Given the description of an element on the screen output the (x, y) to click on. 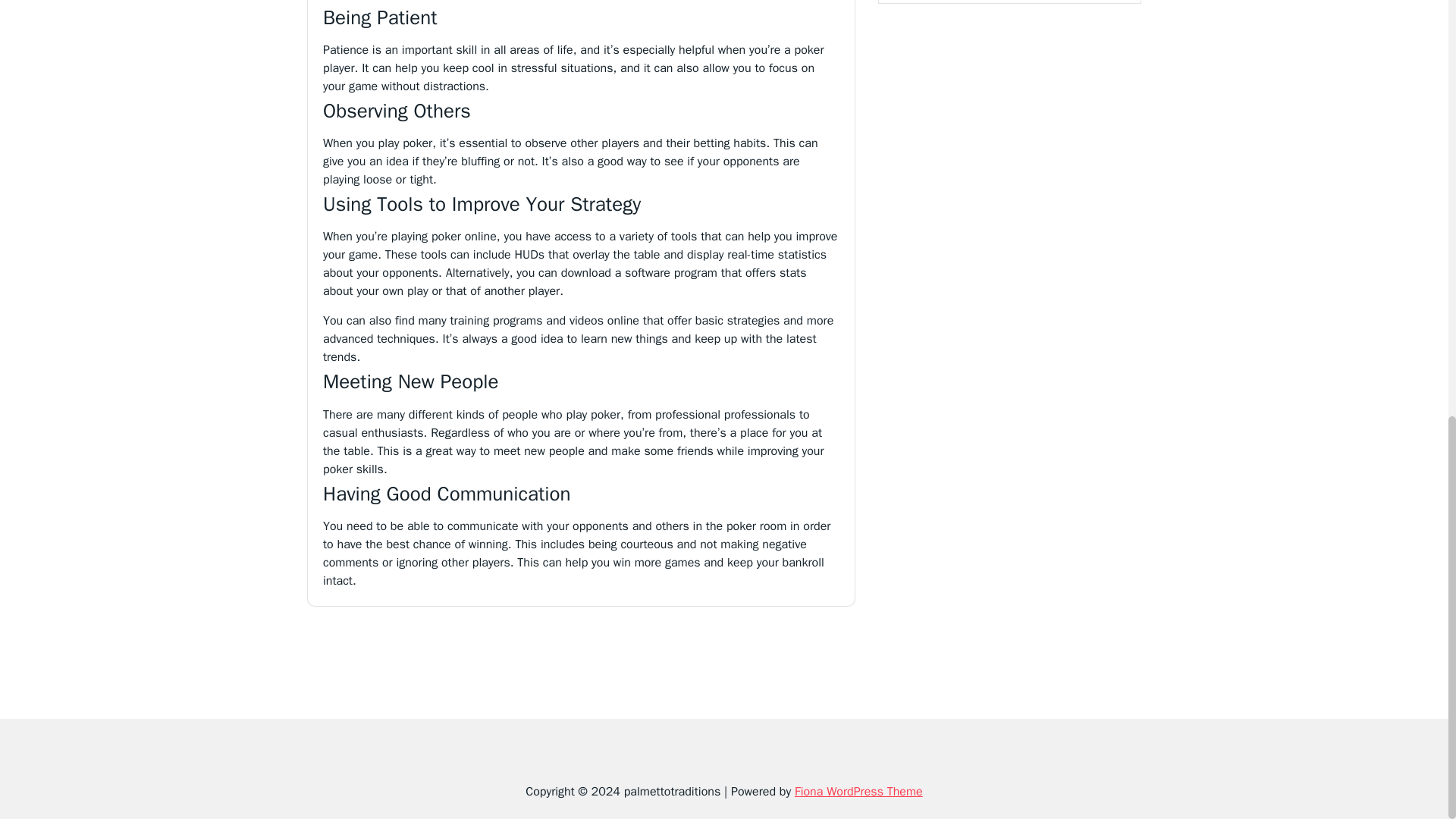
Fiona WordPress Theme (858, 791)
